Given the description of an element on the screen output the (x, y) to click on. 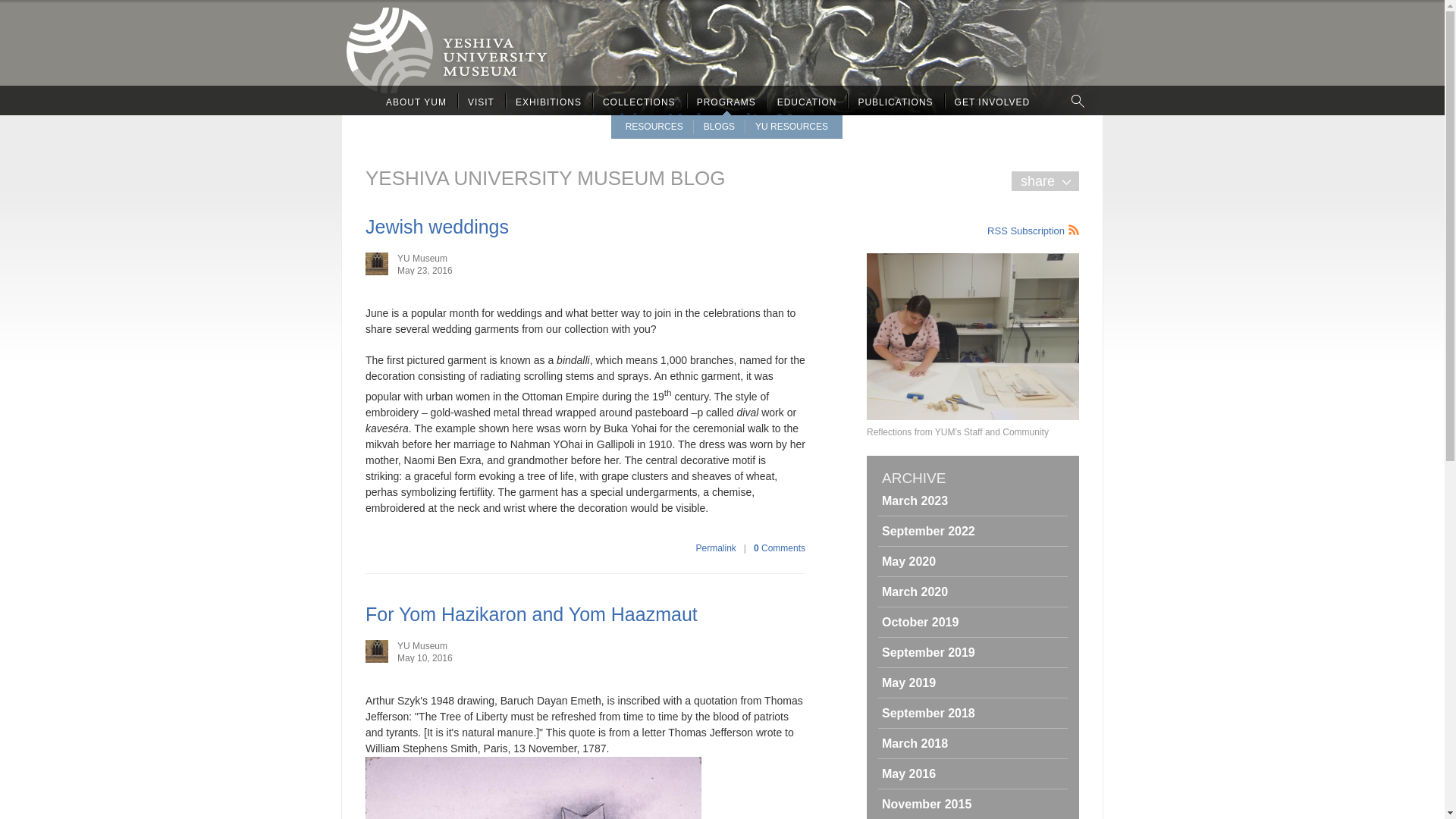
VISIT (481, 101)
BLOGS (719, 126)
PROGRAMS (726, 101)
PUBLICATIONS (895, 101)
ABOUT YUM (416, 101)
EDUCATION (807, 101)
RSS Feed (1032, 229)
SEARCH (1078, 100)
Yeshiva University Museum (721, 57)
YU RESOURCES (791, 126)
Jewish weddings (436, 226)
share (1044, 180)
EXHIBITIONS (548, 101)
GET INVOLVED (992, 101)
COLLECTIONS (638, 101)
